Given the description of an element on the screen output the (x, y) to click on. 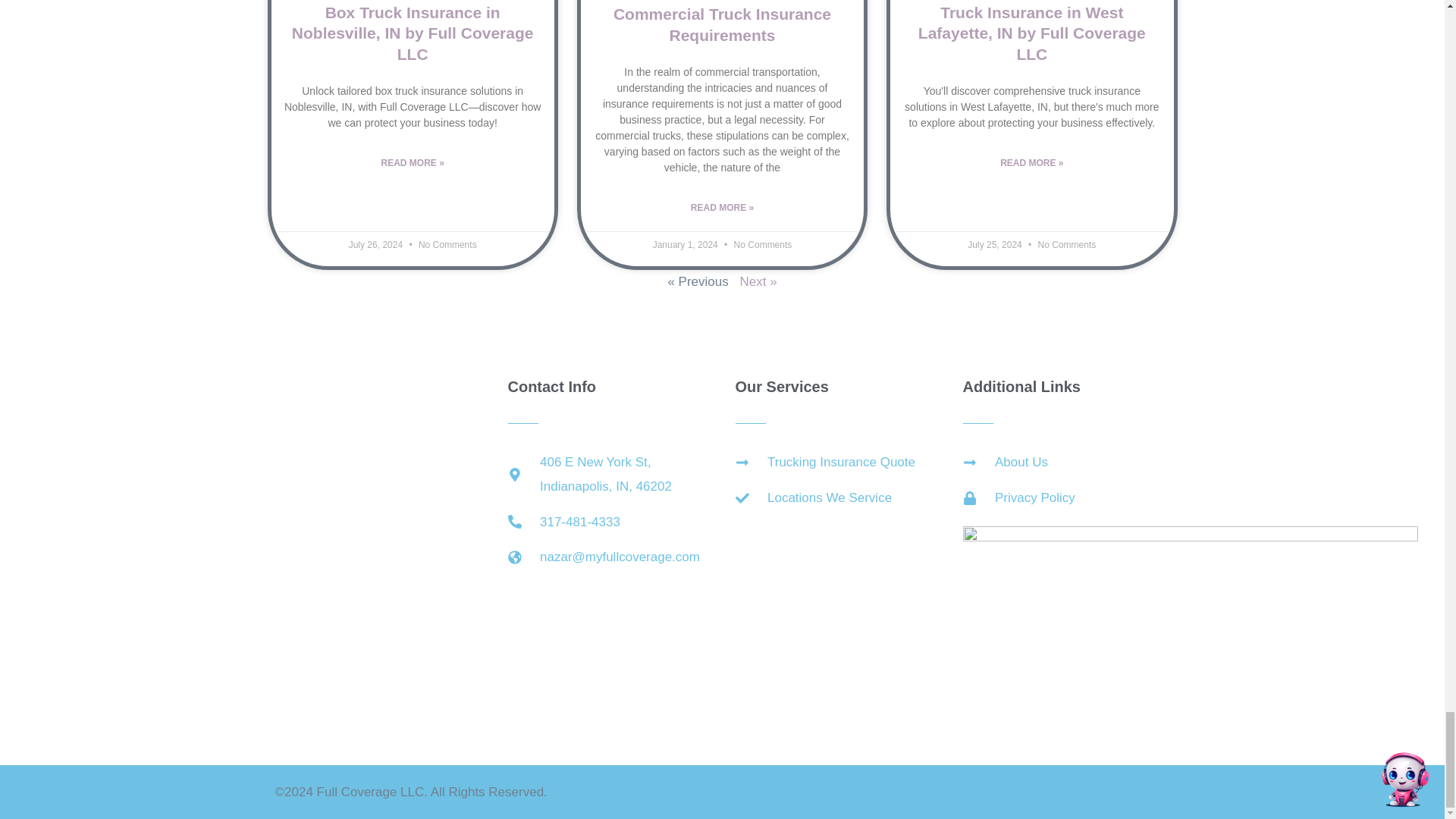
Commercial Truck Insurance Requirements (721, 23)
Truck Insurance in West Lafayette, IN by Full Coverage LLC (1031, 33)
Box Truck Insurance in Noblesville, IN by Full Coverage LLC (413, 33)
